Given the description of an element on the screen output the (x, y) to click on. 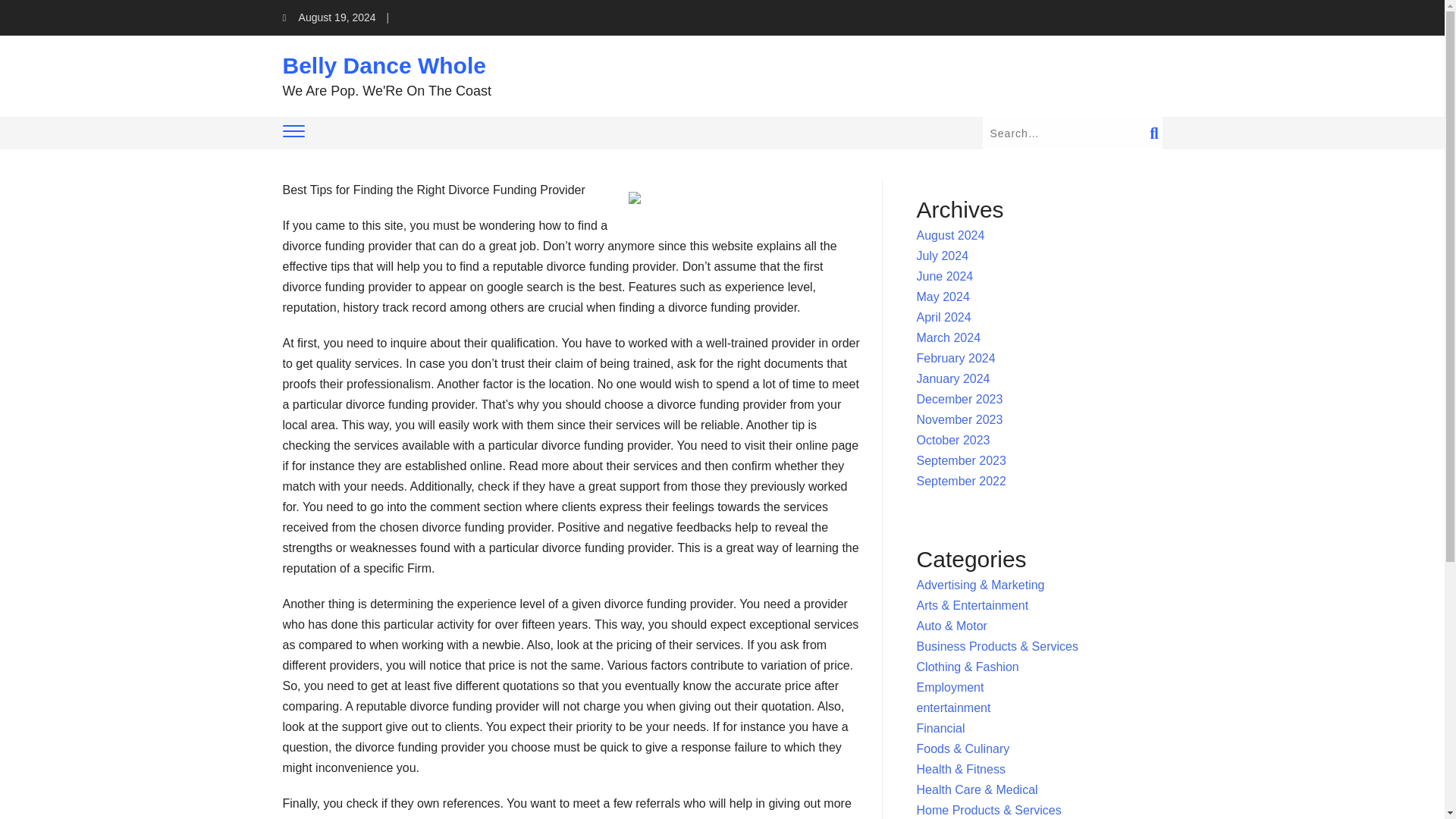
August 2024 (951, 235)
November 2023 (960, 419)
entertainment (954, 707)
December 2023 (960, 399)
June 2024 (945, 276)
Belly Dance Whole (383, 65)
January 2024 (953, 378)
April 2024 (944, 317)
October 2023 (953, 440)
May 2024 (943, 296)
